Given the description of an element on the screen output the (x, y) to click on. 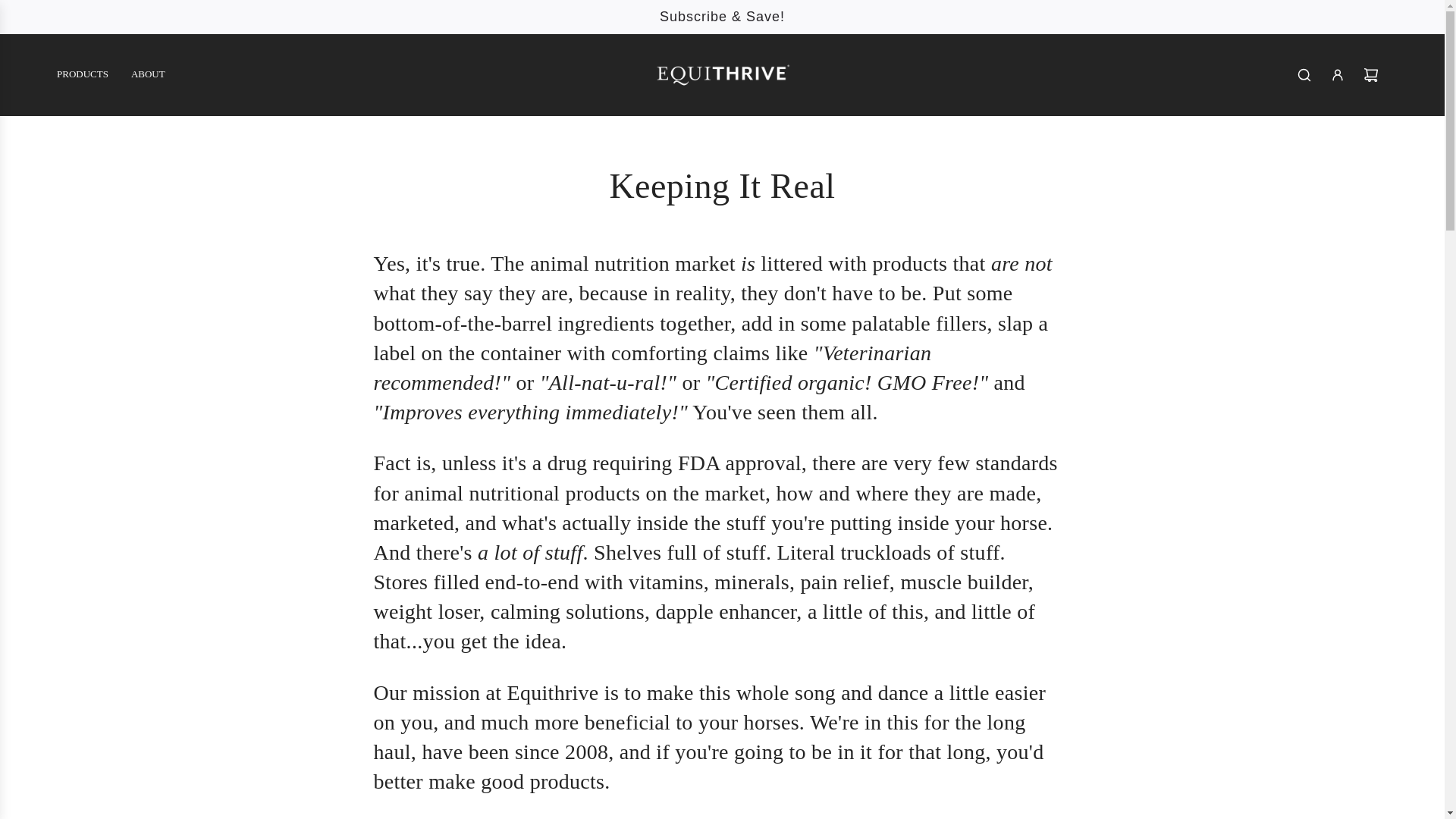
PRODUCTS (81, 74)
